Given the description of an element on the screen output the (x, y) to click on. 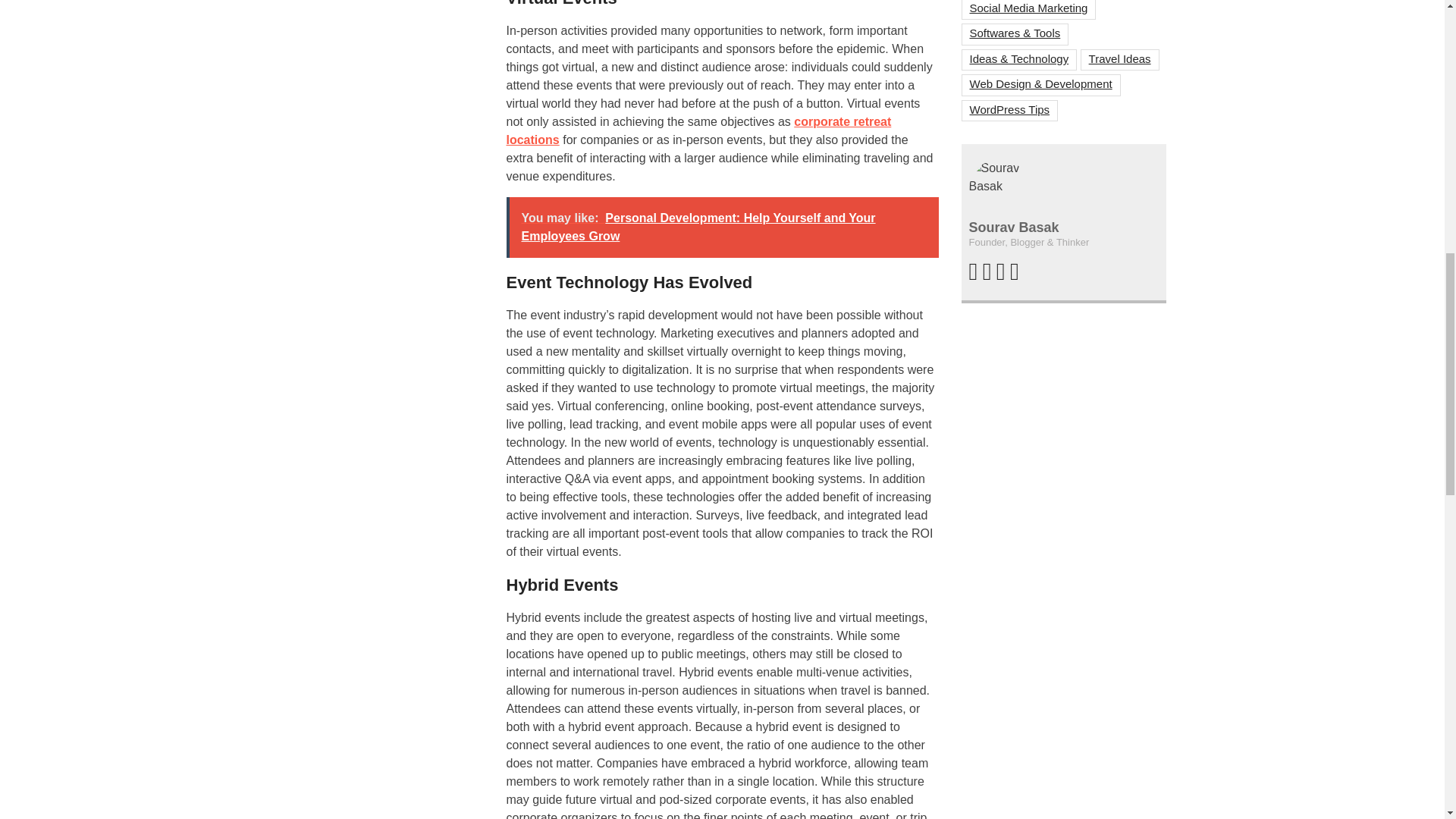
corporate retreat locations (698, 130)
